Given the description of an element on the screen output the (x, y) to click on. 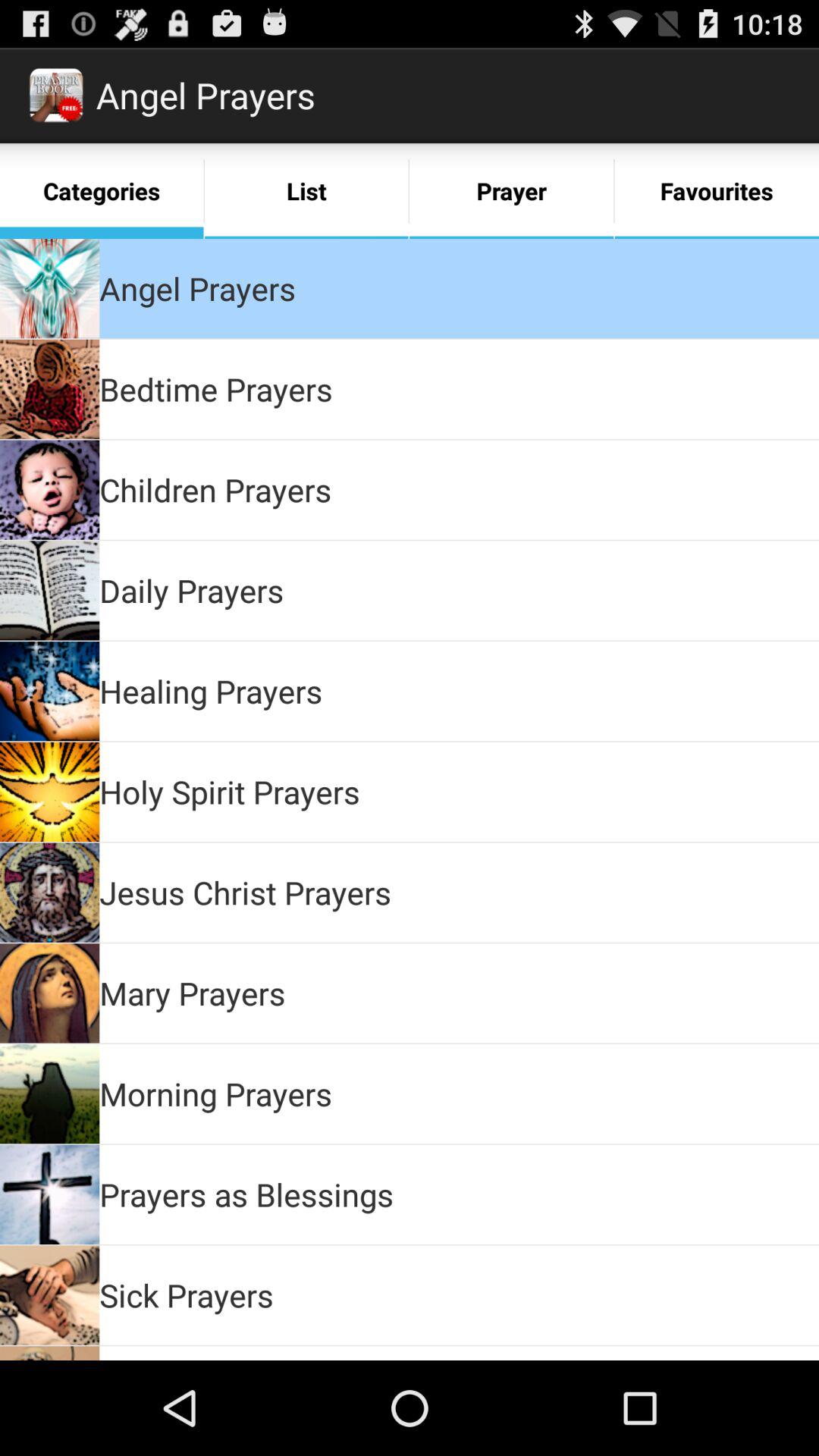
launch the jesus christ prayers icon (245, 891)
